Given the description of an element on the screen output the (x, y) to click on. 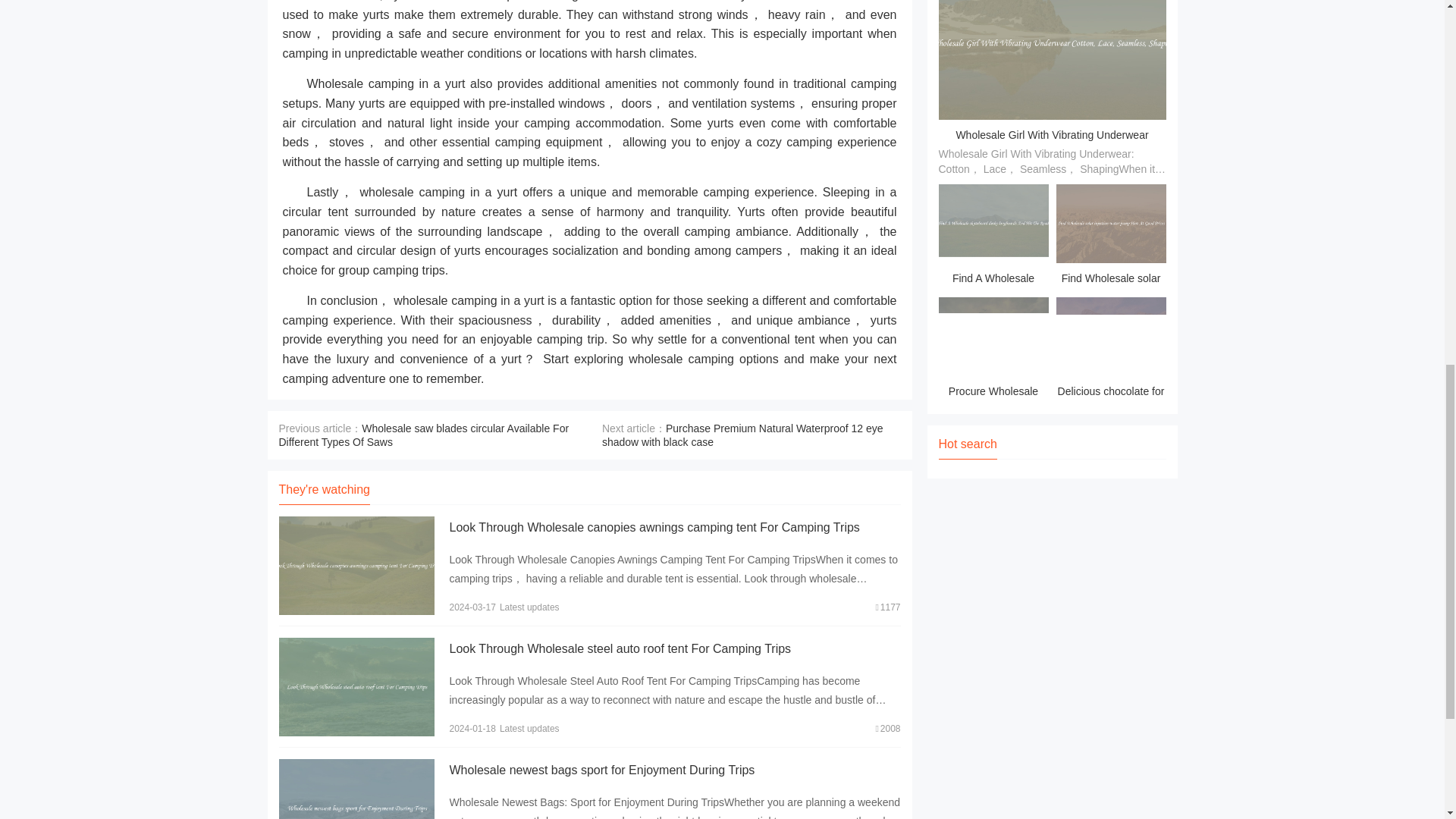
Delicious chocolate for christmas With Multiple Fun Flavors (1110, 349)
Wholesale newest bags sport for Enjoyment During Trips (601, 769)
